Given the description of an element on the screen output the (x, y) to click on. 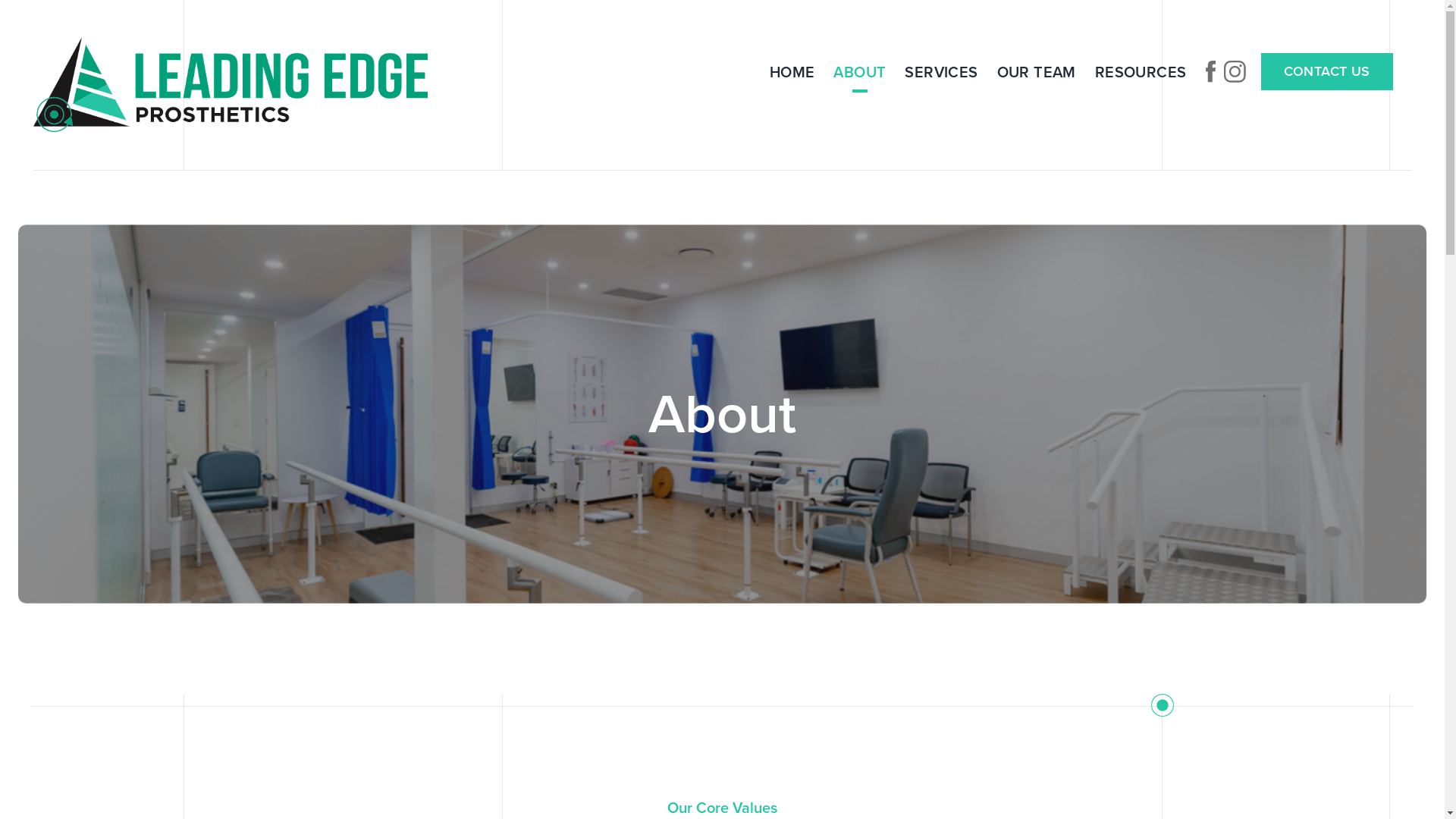
SERVICES Element type: text (940, 71)
CONTACT US Element type: text (1326, 71)
ABOUT Element type: text (859, 71)
RESOURCES Element type: text (1140, 71)
OUR TEAM Element type: text (1036, 71)
HOME Element type: text (792, 71)
